Given the description of an element on the screen output the (x, y) to click on. 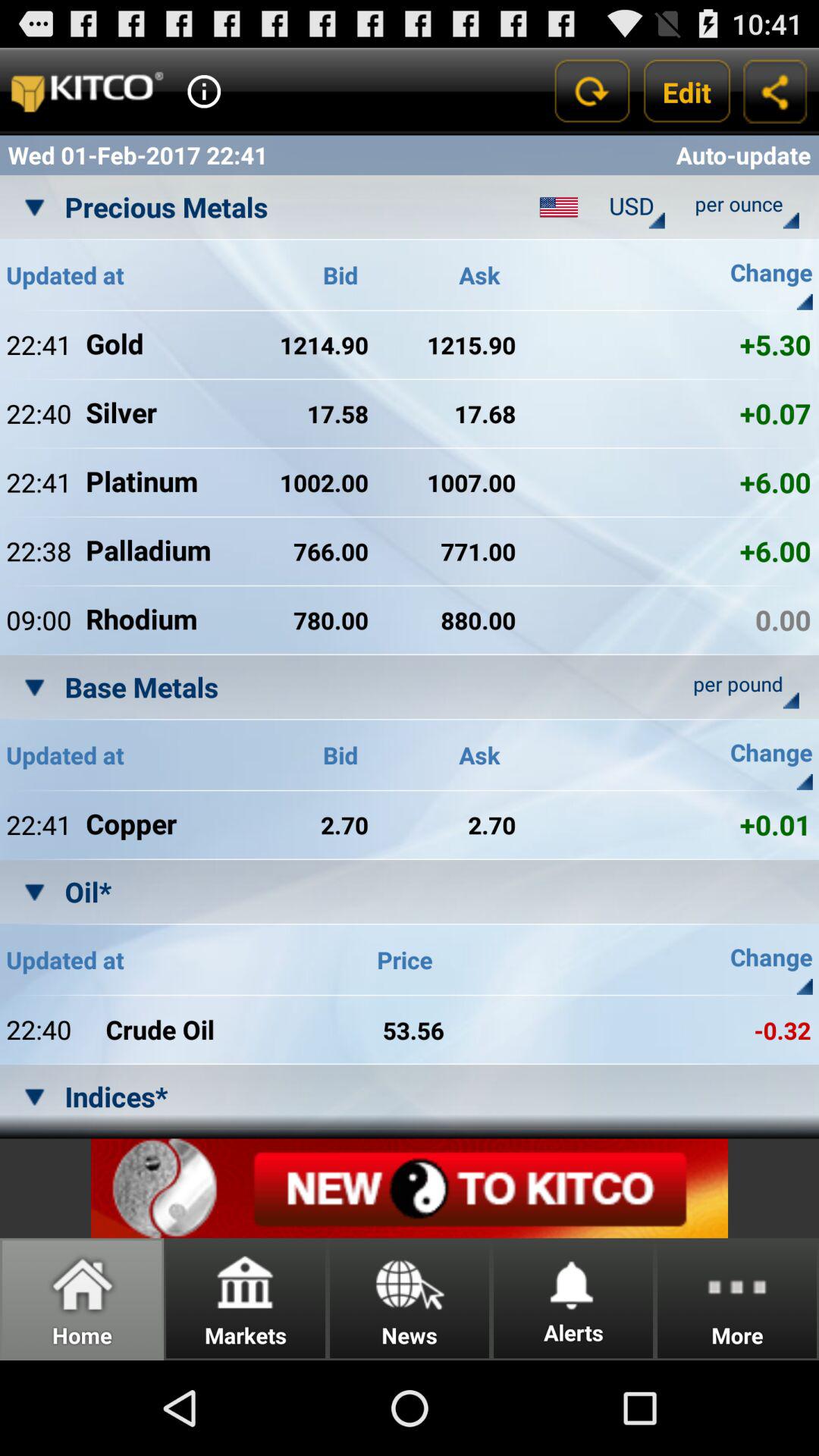
flip until edit icon (686, 91)
